Given the description of an element on the screen output the (x, y) to click on. 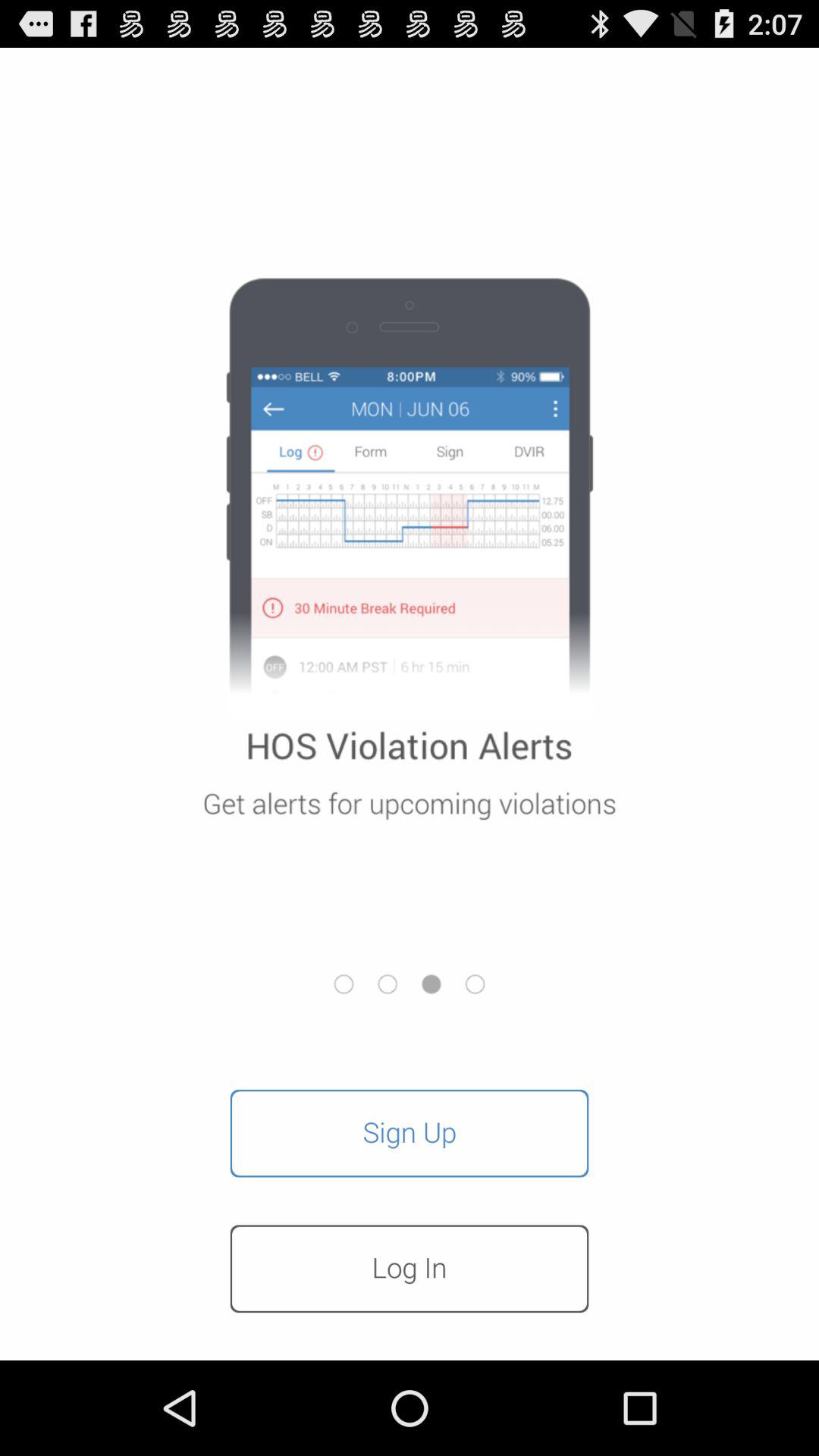
open log in item (409, 1268)
